Given the description of an element on the screen output the (x, y) to click on. 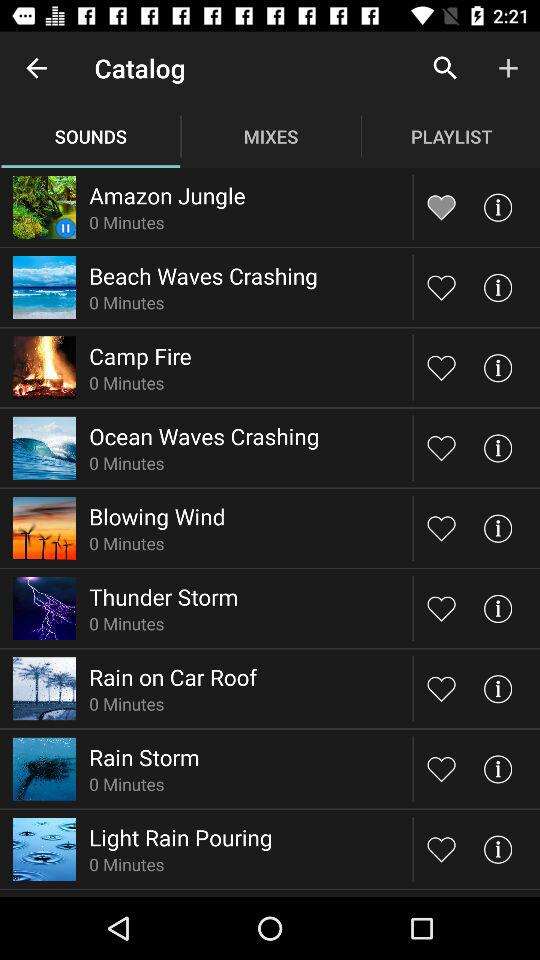
information option (498, 287)
